Given the description of an element on the screen output the (x, y) to click on. 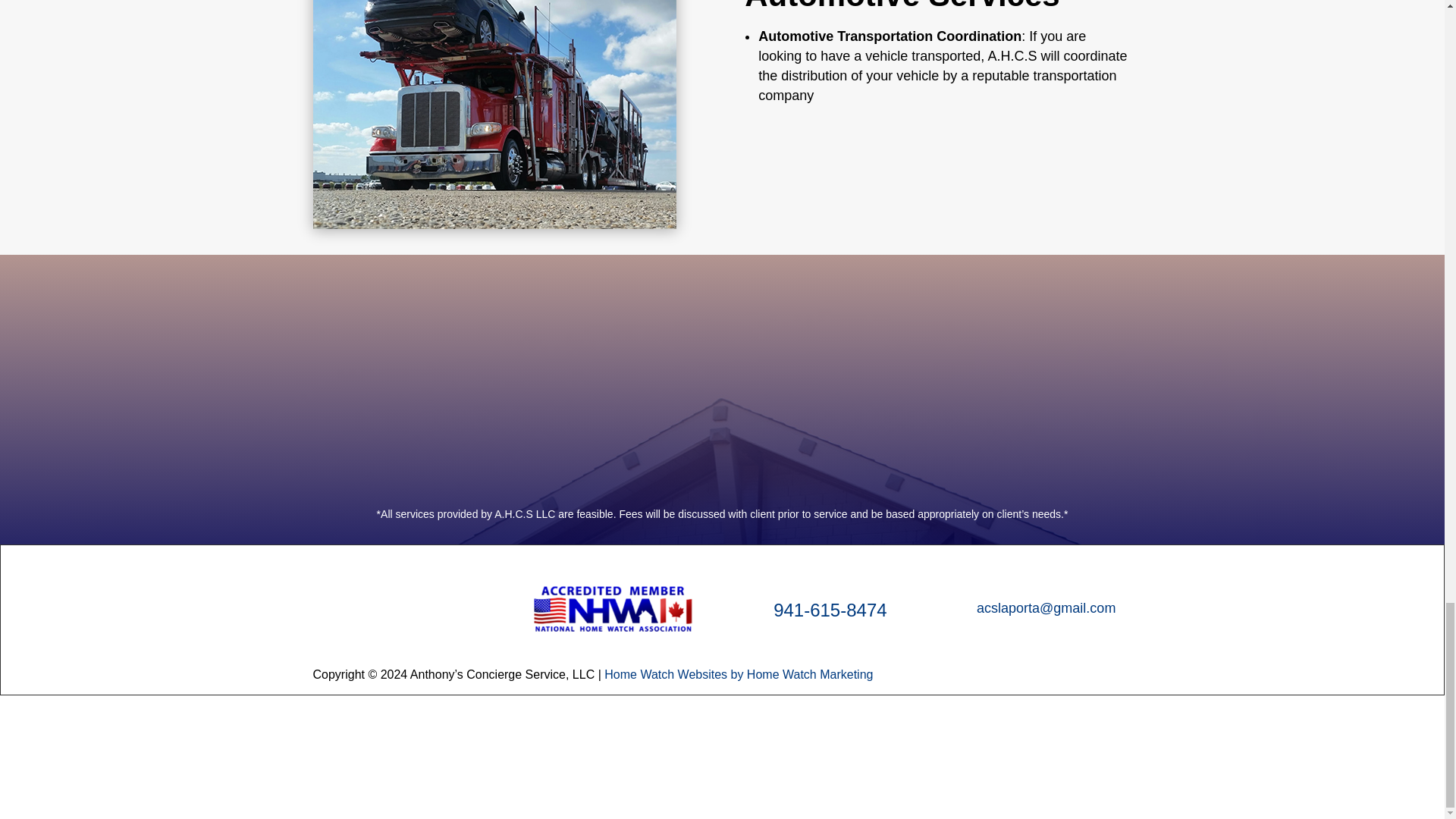
941-615-8474 (829, 609)
Home Watch Websites by Home Watch Marketing (738, 674)
transport (494, 114)
